Given the description of an element on the screen output the (x, y) to click on. 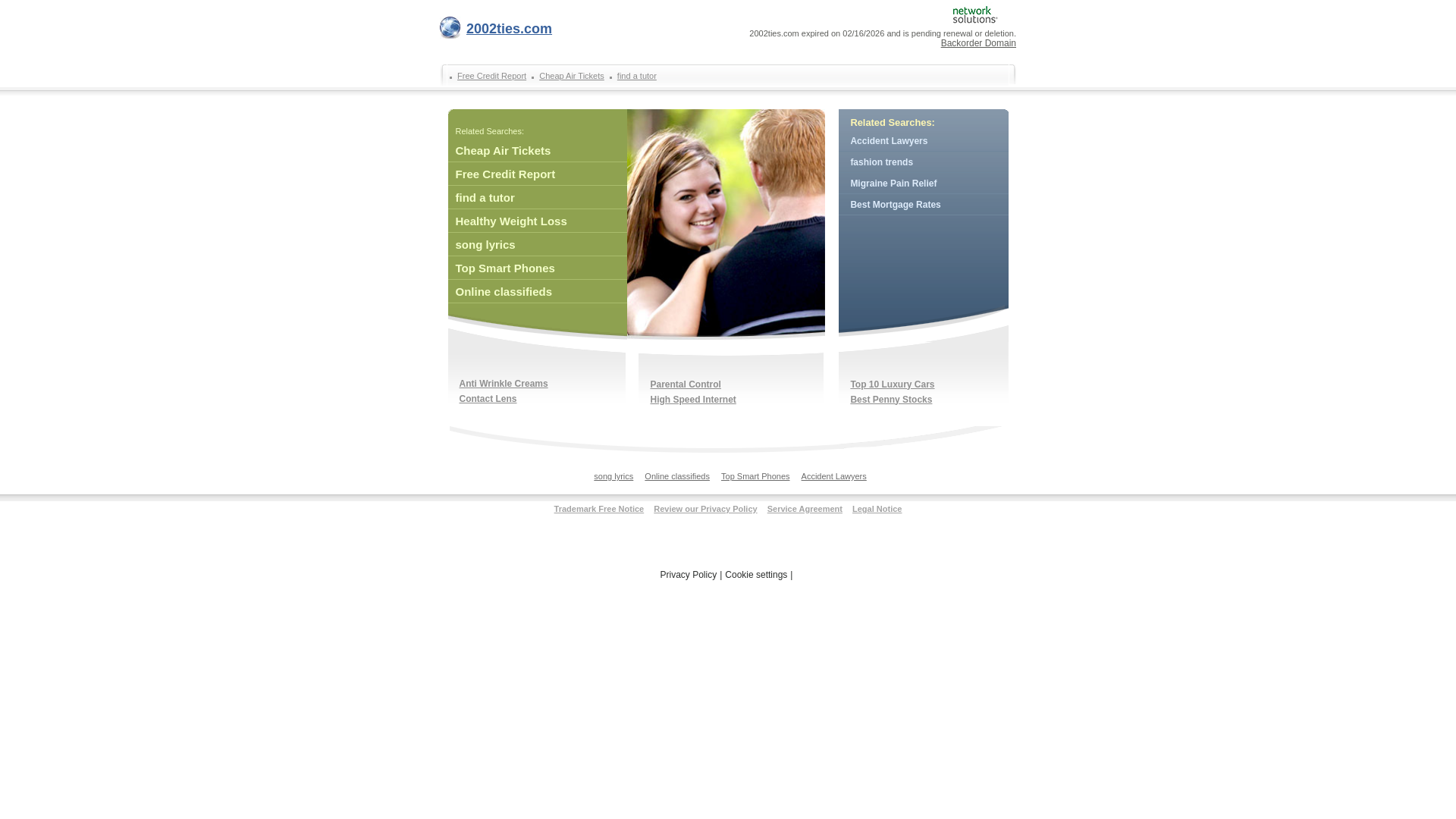
Top 10 Luxury Cars Element type: text (892, 384)
Contact Lens Element type: text (488, 397)
Cookie settings Element type: text (755, 574)
Migraine Pain Relief Element type: text (922, 183)
High Speed Internet Element type: text (693, 399)
Service Agreement Element type: text (804, 508)
find a tutor Element type: text (536, 197)
Anti Wrinkle Creams Element type: text (504, 382)
song lyrics Element type: text (536, 244)
Accident Lawyers Element type: text (834, 479)
Online classifieds Element type: text (677, 479)
fashion trends Element type: text (922, 162)
Top Smart Phones Element type: text (755, 479)
song lyrics Element type: text (613, 479)
2002ties.com Element type: text (495, 31)
Accident Lawyers Element type: text (922, 141)
Free Credit Report Element type: text (536, 174)
Top Smart Phones Element type: text (536, 268)
Backorder Domain Element type: text (978, 42)
Cheap Air Tickets Element type: text (536, 150)
Free Credit Report Element type: text (489, 75)
image1 Element type: hover (725, 224)
Best Penny Stocks Element type: text (891, 399)
Review our Privacy Policy Element type: text (704, 508)
Legal Notice Element type: text (876, 508)
Cheap Air Tickets Element type: text (569, 75)
Healthy Weight Loss Element type: text (536, 221)
find a tutor Element type: text (634, 75)
Privacy Policy Element type: text (687, 574)
Best Mortgage Rates Element type: text (922, 204)
Online classifieds Element type: text (536, 291)
Trademark Free Notice Element type: text (599, 508)
Parental Control Element type: text (685, 384)
